Given the description of an element on the screen output the (x, y) to click on. 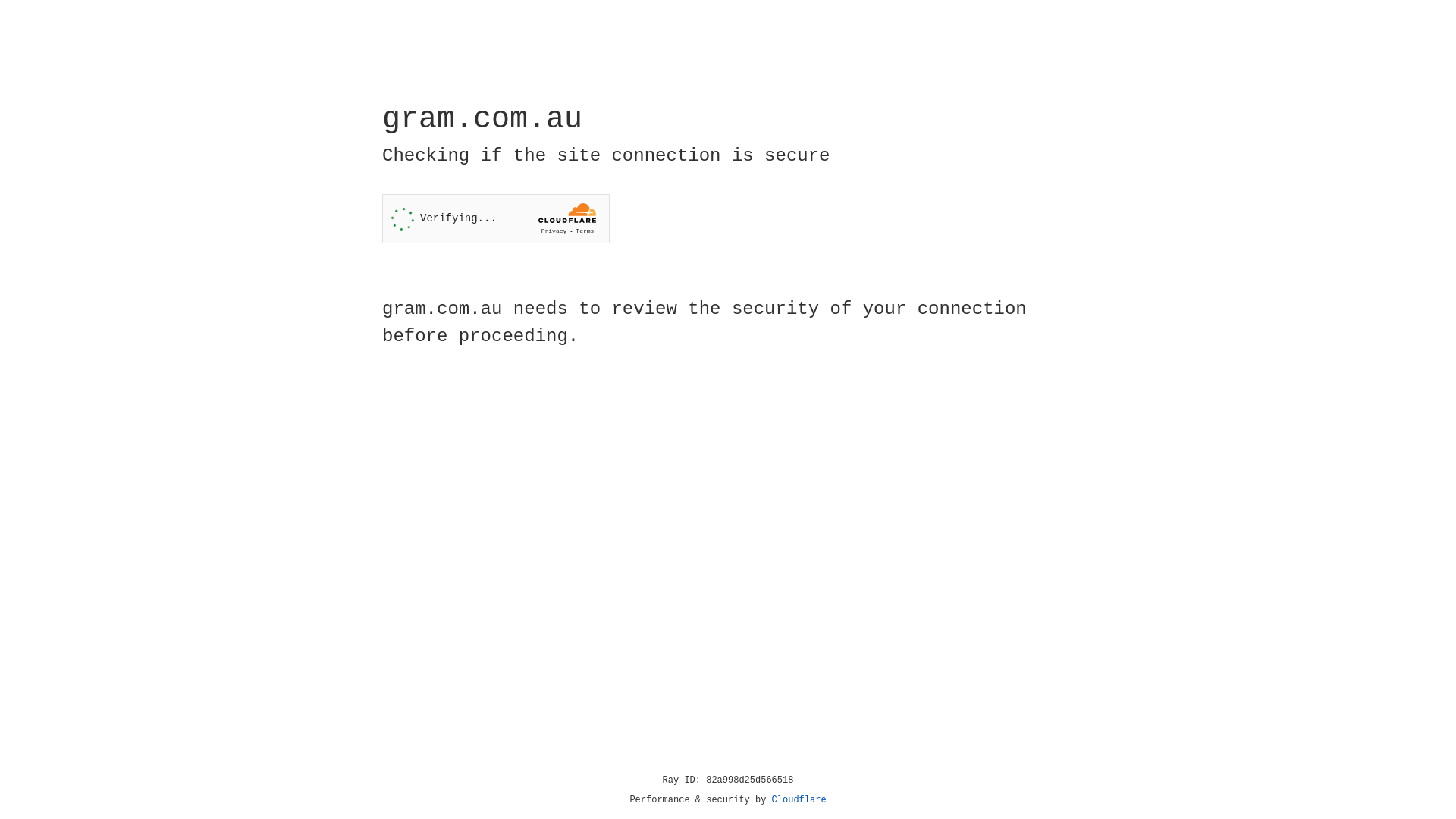
Cloudflare Element type: text (798, 799)
Widget containing a Cloudflare security challenge Element type: hover (495, 218)
